Given the description of an element on the screen output the (x, y) to click on. 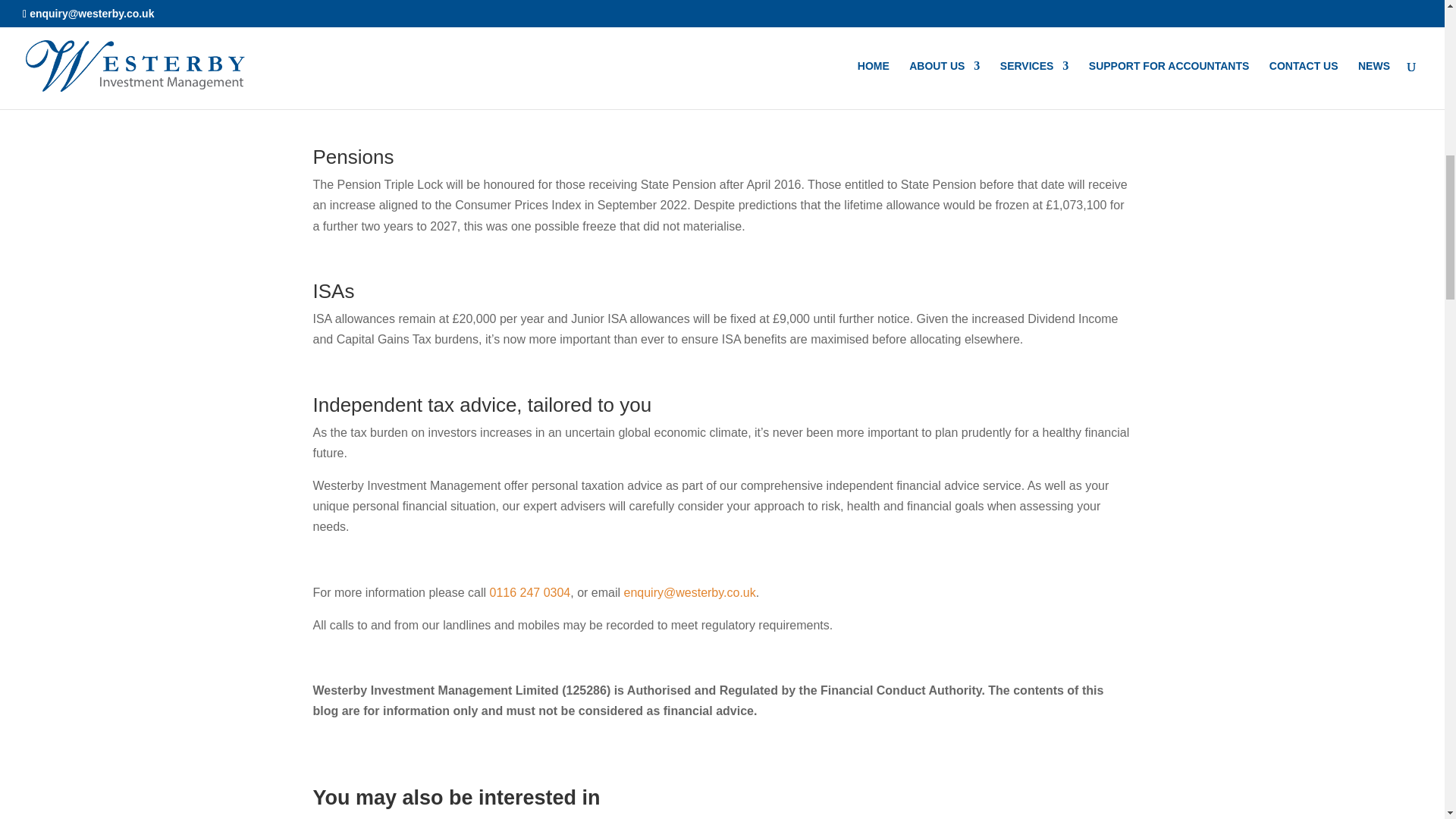
0116 247 0304 (529, 592)
